Given the description of an element on the screen output the (x, y) to click on. 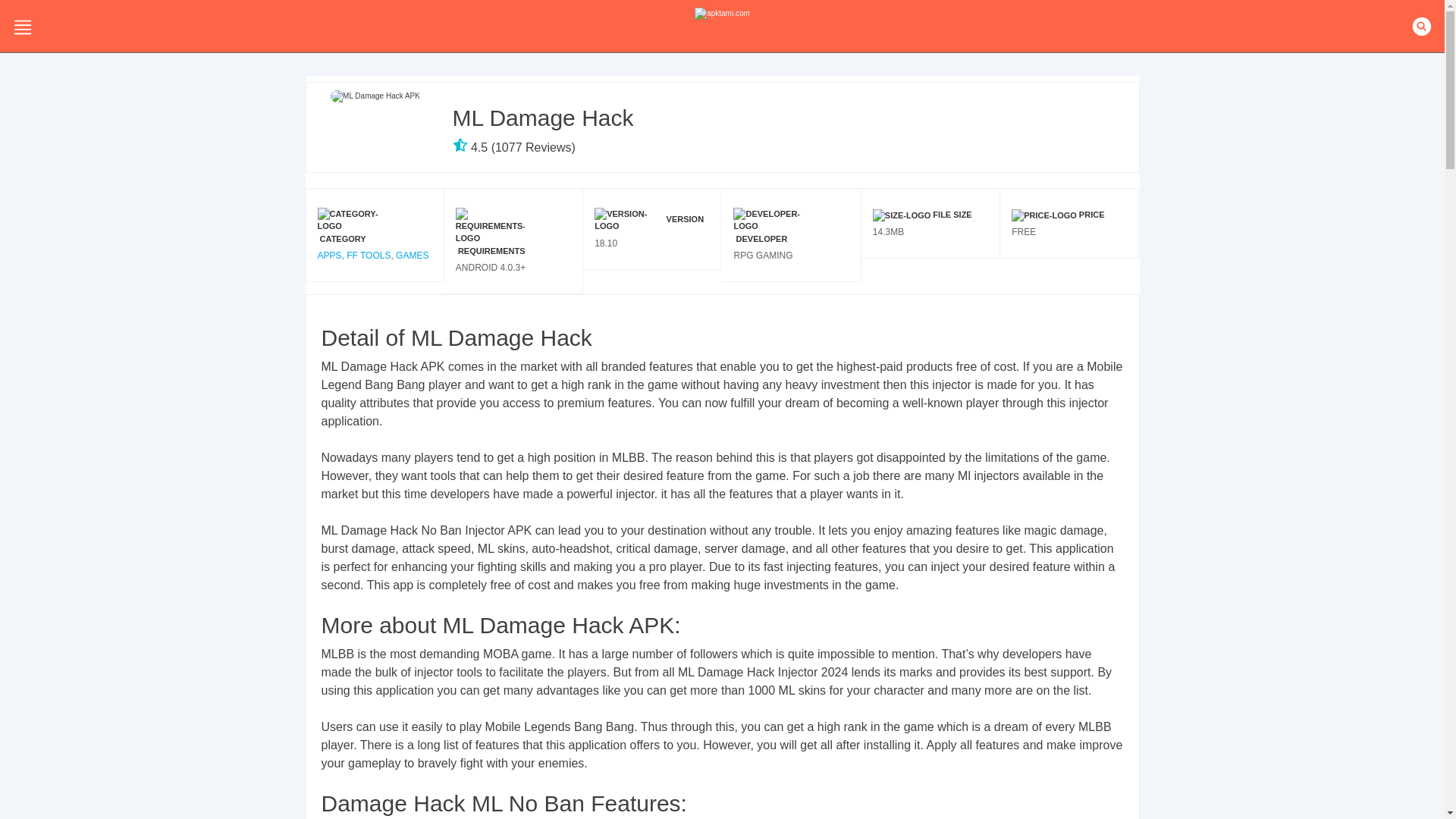
GAMES (412, 255)
APPS (328, 255)
FF TOOLS (368, 255)
